Given the description of an element on the screen output the (x, y) to click on. 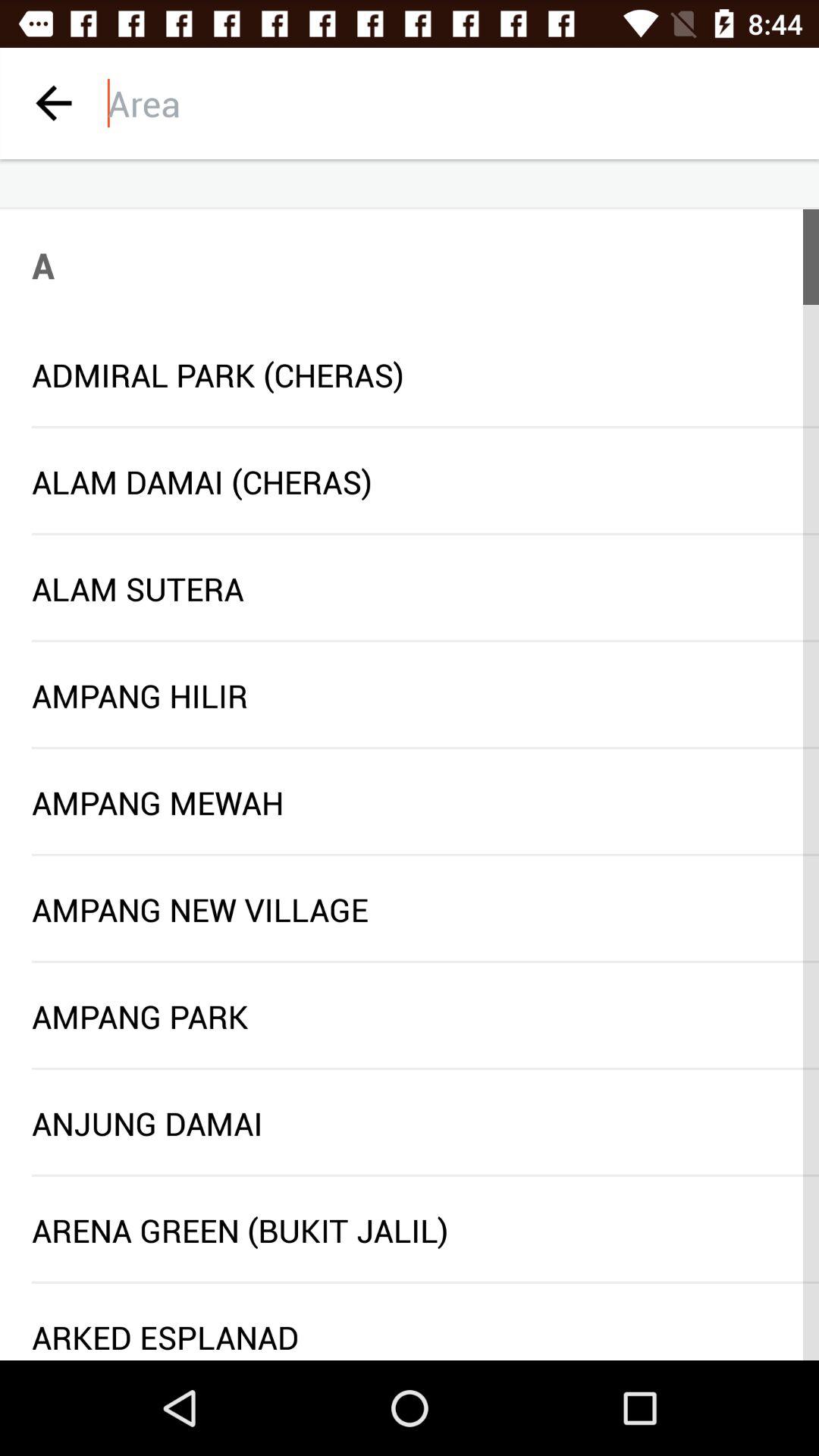
choose the icon above arked esplanad icon (425, 1282)
